Given the description of an element on the screen output the (x, y) to click on. 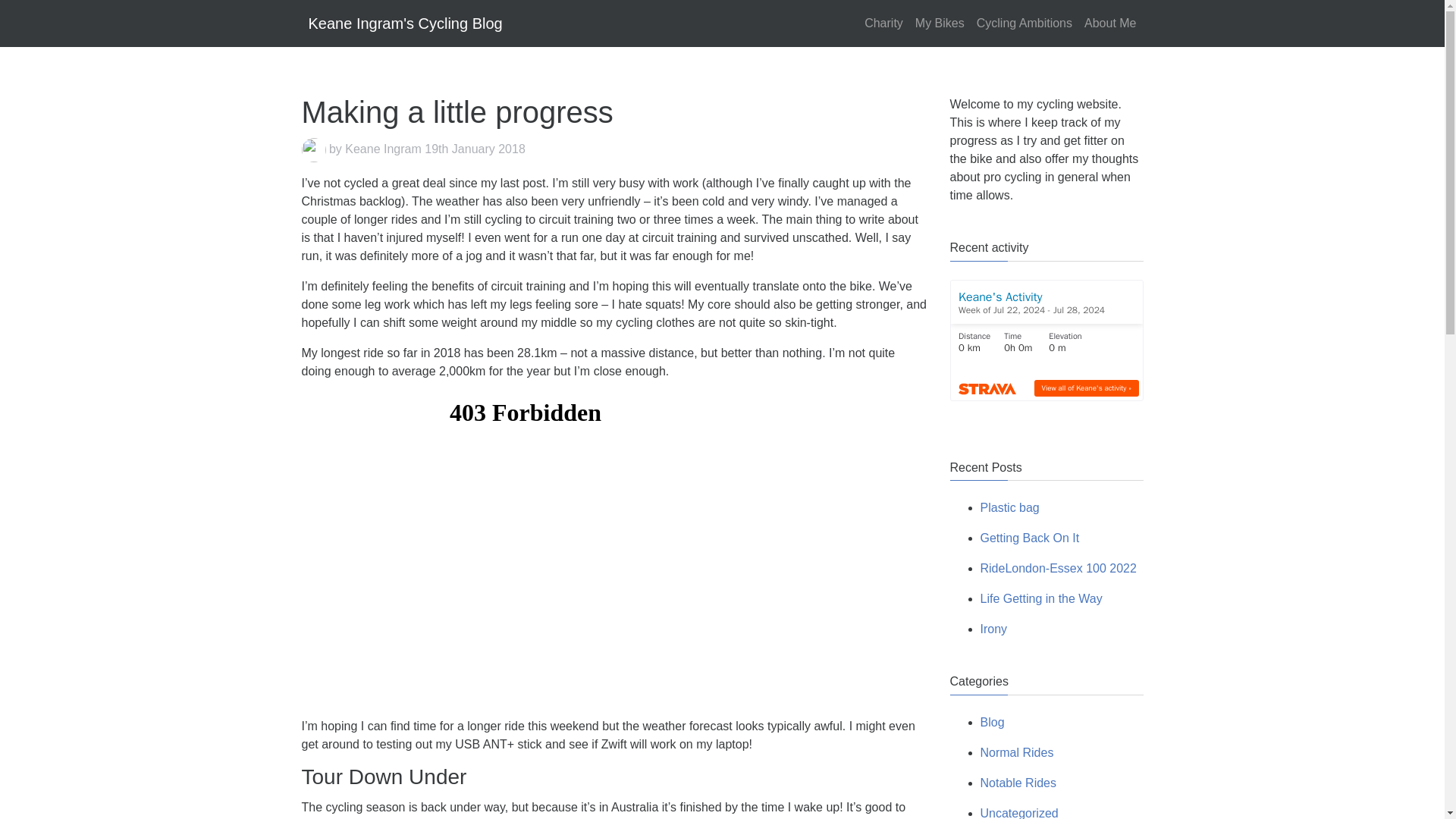
Uncategorized (1018, 812)
Charity (883, 23)
My Bikes (939, 23)
Charity (883, 23)
Keane Ingram's Cycling Blog (404, 23)
Notable Rides (1018, 782)
Cycling Ambitions (1023, 23)
Plastic bag (1009, 507)
About Me (1109, 23)
Getting Back On It (1028, 537)
Life Getting in the Way (1040, 598)
RideLondon-Essex 100 2022 (1057, 567)
Cycling Ambitions (1023, 23)
Normal Rides (1015, 752)
My Bikes (939, 23)
